Given the description of an element on the screen output the (x, y) to click on. 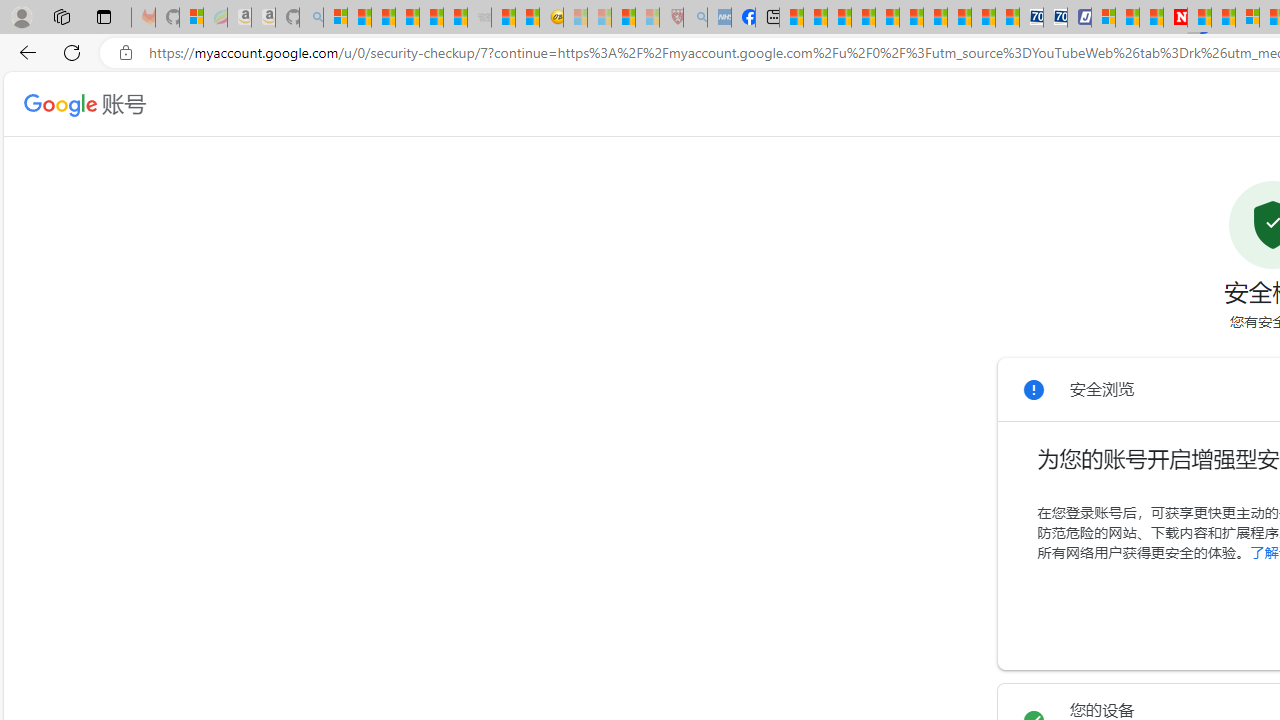
12 Popular Science Lies that Must be Corrected - Sleeping (647, 17)
